Given the description of an element on the screen output the (x, y) to click on. 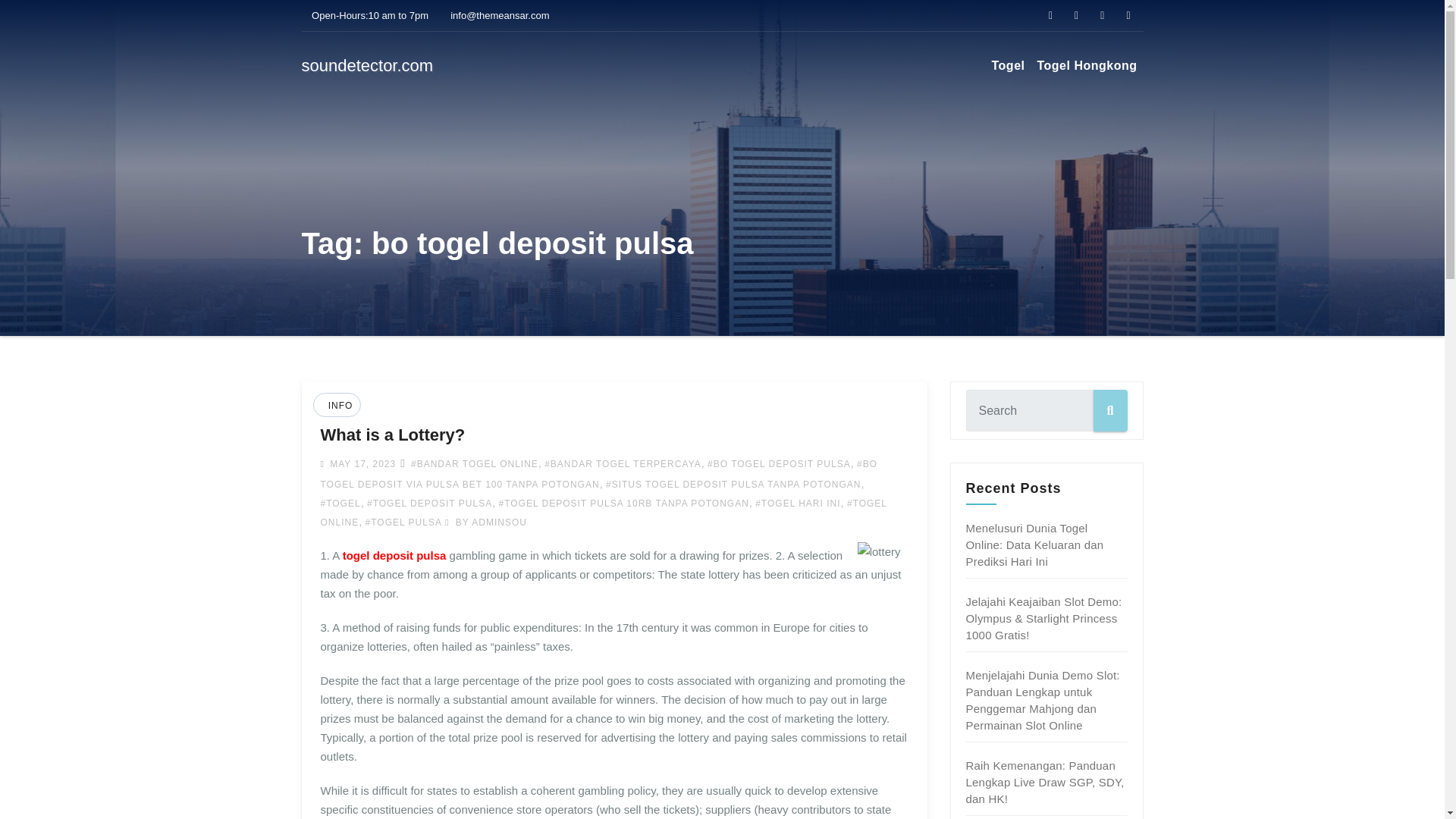
Togel Hongkong (1086, 65)
What is a Lottery? (392, 434)
Raih Kemenangan: Panduan Lengkap Live Draw SGP, SDY, dan HK! (1045, 782)
Open-Hours:10 am to 7pm (365, 15)
INFO (338, 405)
soundetector.com (367, 65)
togel deposit pulsa (394, 554)
BY ADMINSOU (486, 521)
MAY 17, 2023 (361, 463)
Permalink to: What is a Lottery? (392, 434)
Togel Hongkong (1086, 65)
